Given the description of an element on the screen output the (x, y) to click on. 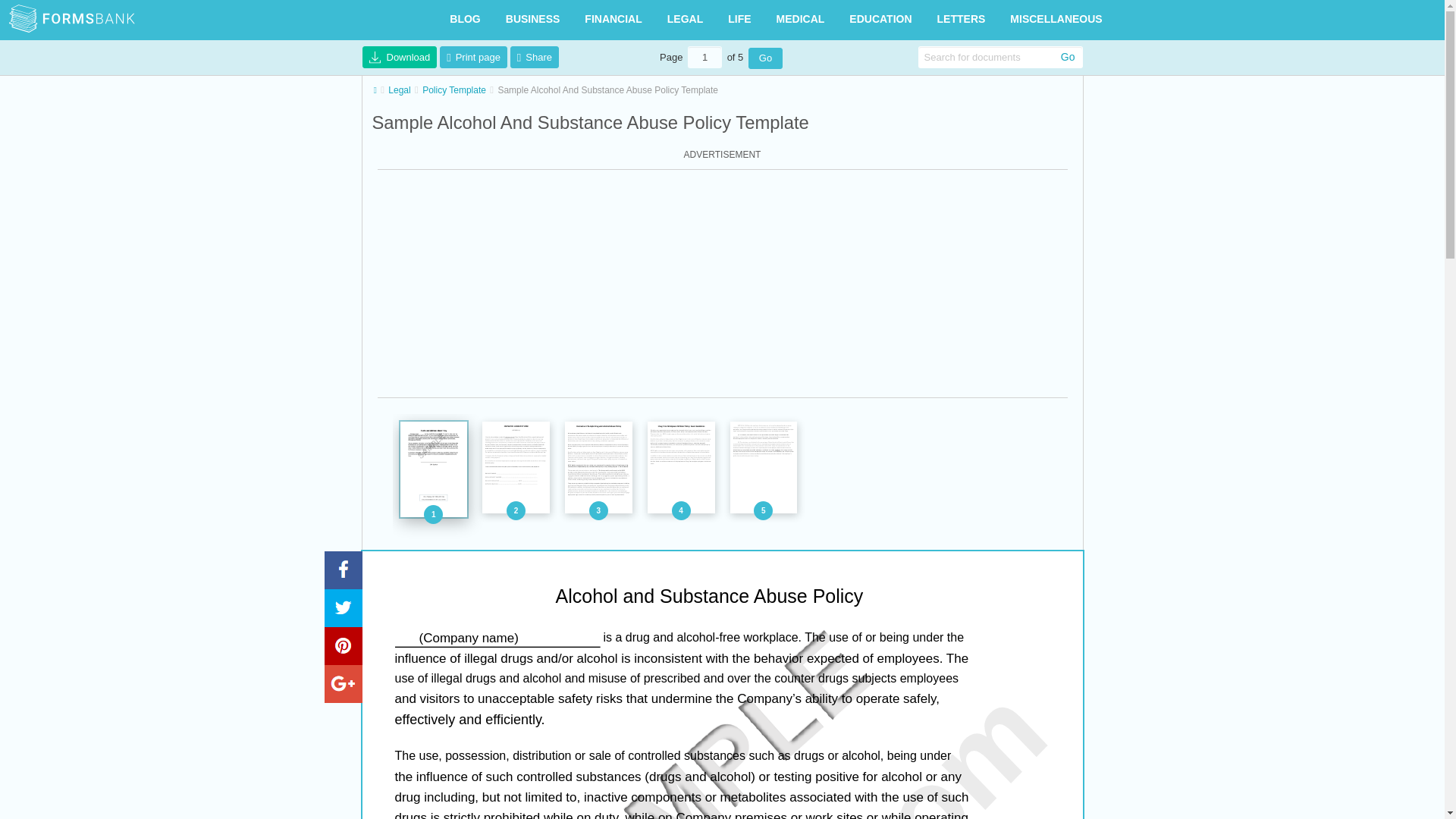
Go (765, 57)
1 (704, 56)
Policy Template (454, 90)
Policy Template (454, 90)
Legal (399, 90)
Legal (399, 90)
